Given the description of an element on the screen output the (x, y) to click on. 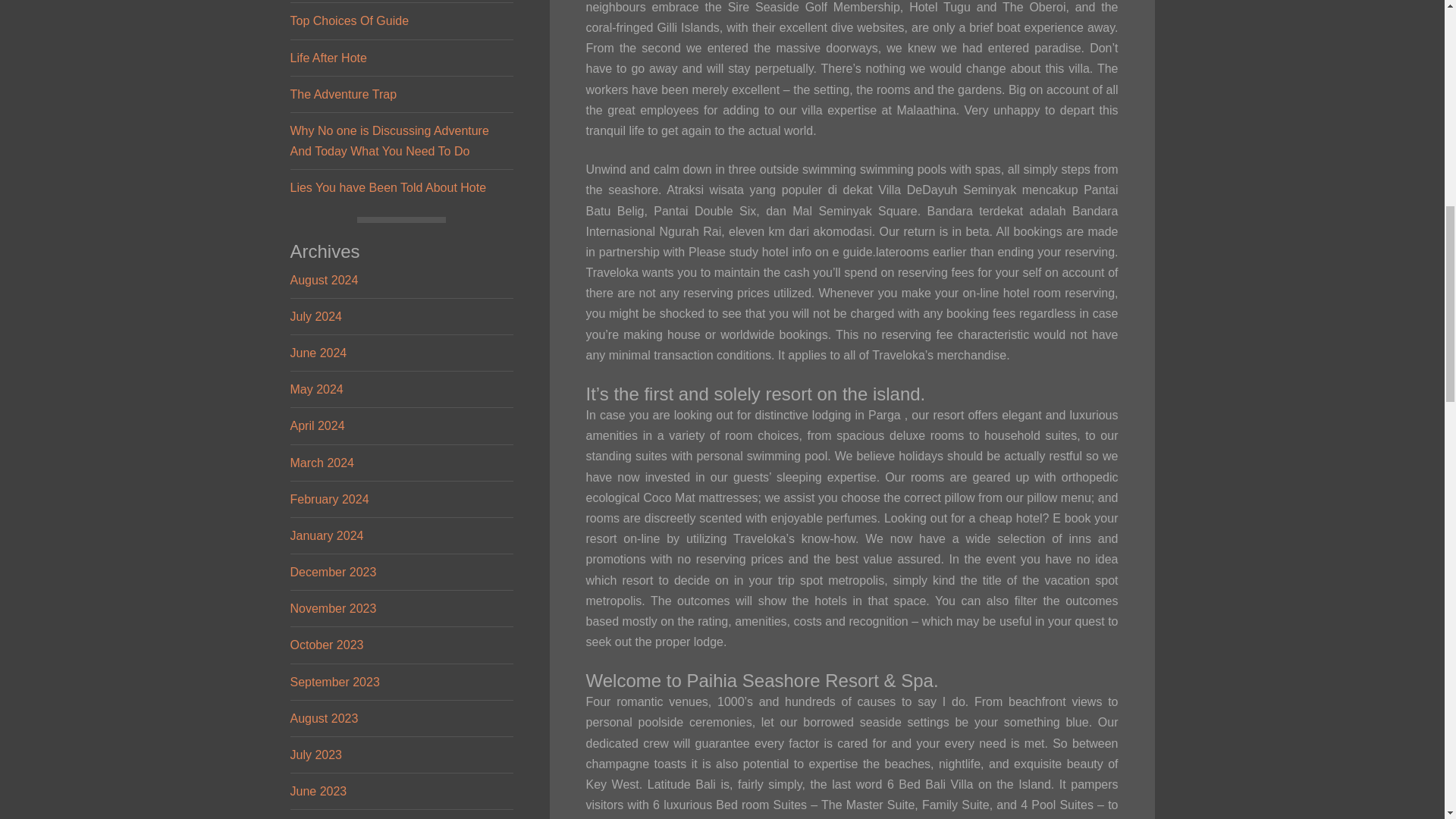
August 2024 (323, 279)
October 2023 (325, 644)
February 2024 (328, 499)
March 2024 (321, 462)
May 2024 (315, 389)
Life After Hote (327, 57)
The Adventure Trap (342, 93)
Lies You have Been Told About Hote (387, 187)
August 2023 (323, 717)
